Given the description of an element on the screen output the (x, y) to click on. 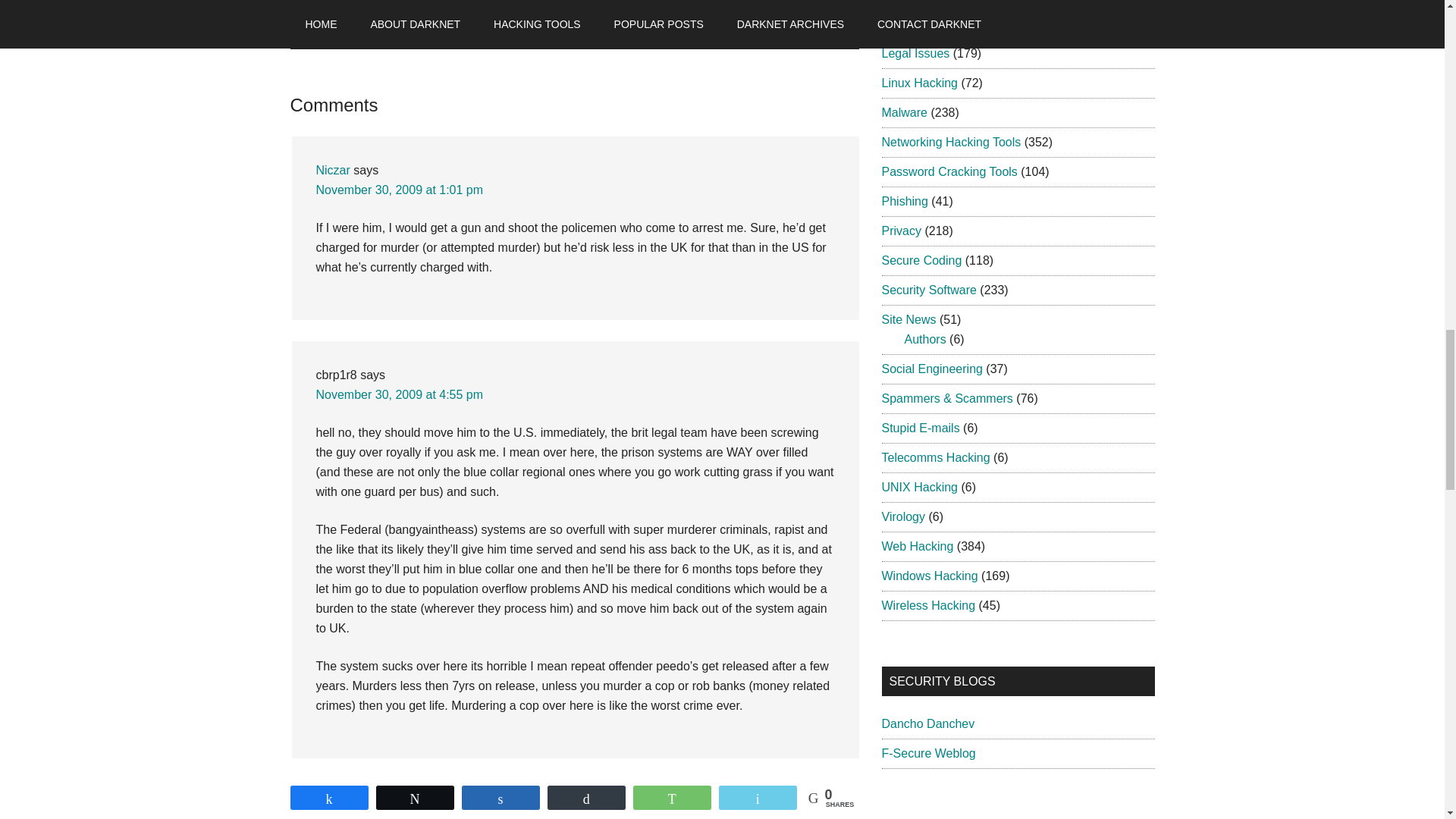
Mind Streams of Information Security Knowledge (927, 723)
Niczar (332, 169)
November 30, 2009 at 1:01 pm (399, 189)
Morgan Storey (354, 812)
News from the lab. (927, 753)
Award-winning computer security news (921, 812)
November 30, 2009 at 4:55 pm (399, 394)
